Given the description of an element on the screen output the (x, y) to click on. 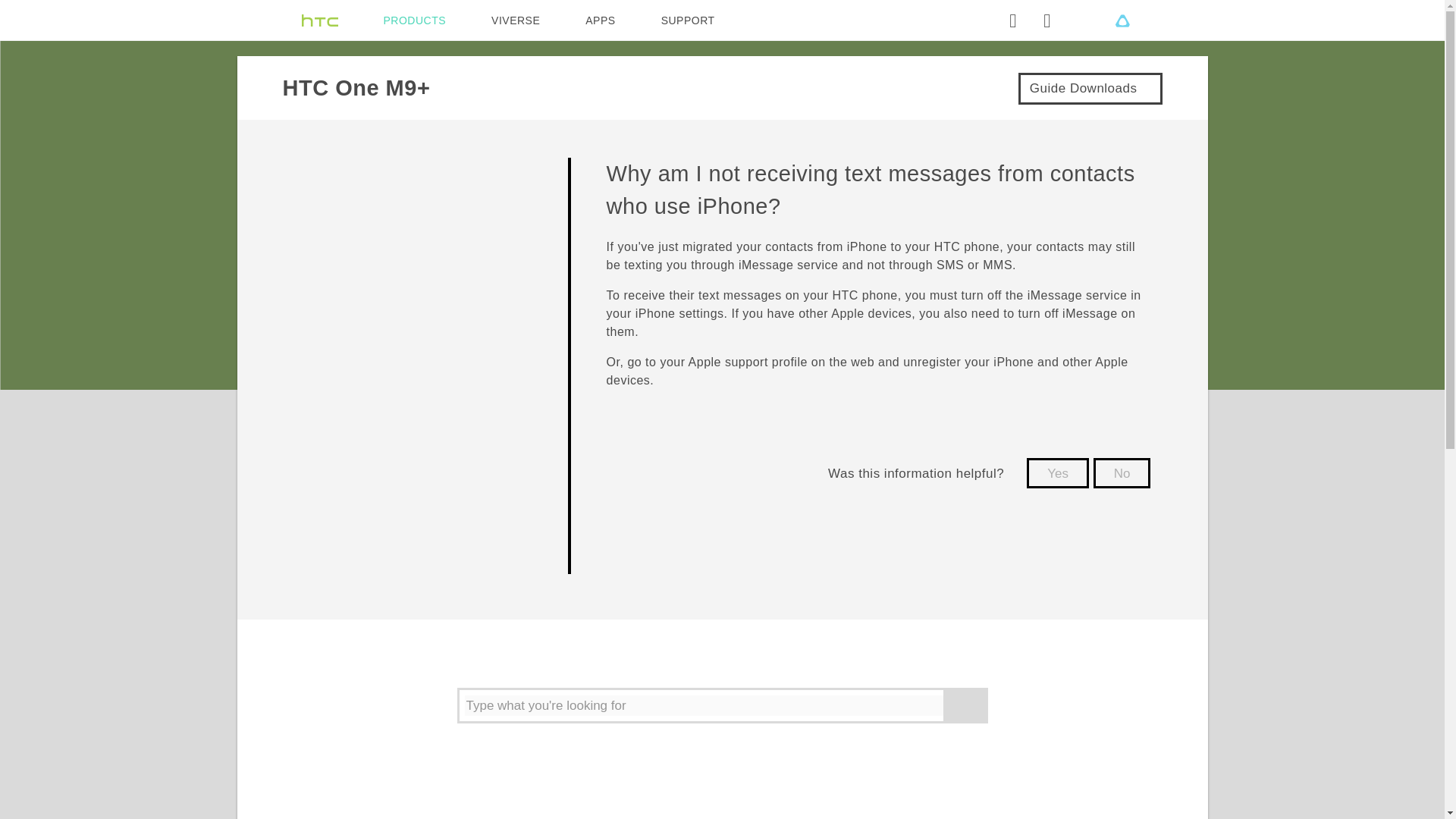
VIVERSE (516, 20)
PRODUCTS (415, 20)
SUPPORT (687, 20)
Shopping bag (1046, 19)
